Given the description of an element on the screen output the (x, y) to click on. 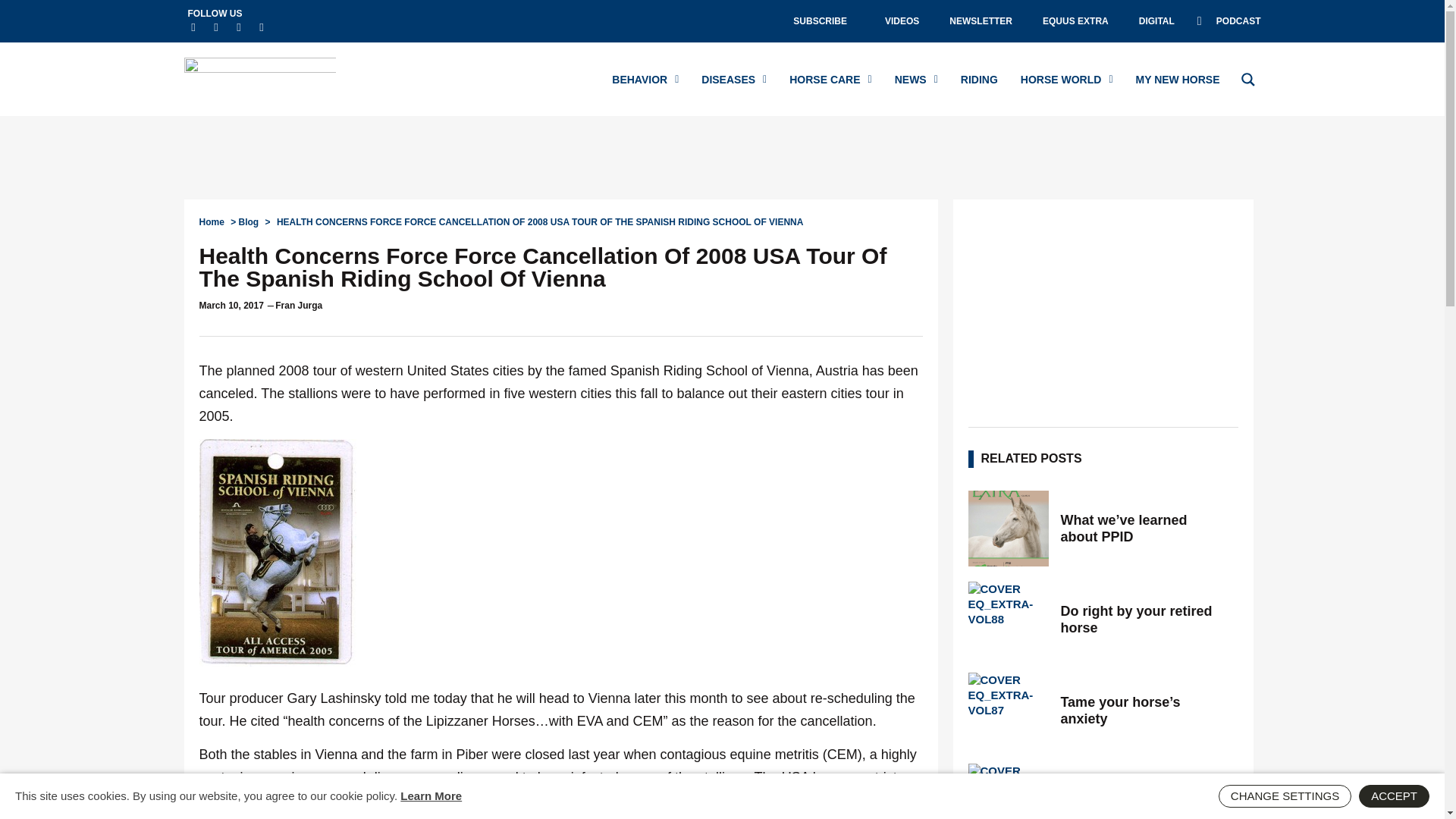
BEHAVIOR (644, 79)
3rd party ad content (721, 157)
NEWS (916, 79)
Get ready for winter! (1008, 791)
SUBSCRIBE (823, 21)
DISEASES (734, 79)
NEWSLETTER (980, 21)
VIDEOS (901, 21)
PODCAST (1228, 20)
Do right by your retired horse (1143, 619)
Do right by your retired horse (1008, 619)
HORSE CARE (829, 79)
Get ready for winter! (1143, 801)
EQUUS EXTRA (1075, 21)
3rd party ad content (1103, 309)
